Given the description of an element on the screen output the (x, y) to click on. 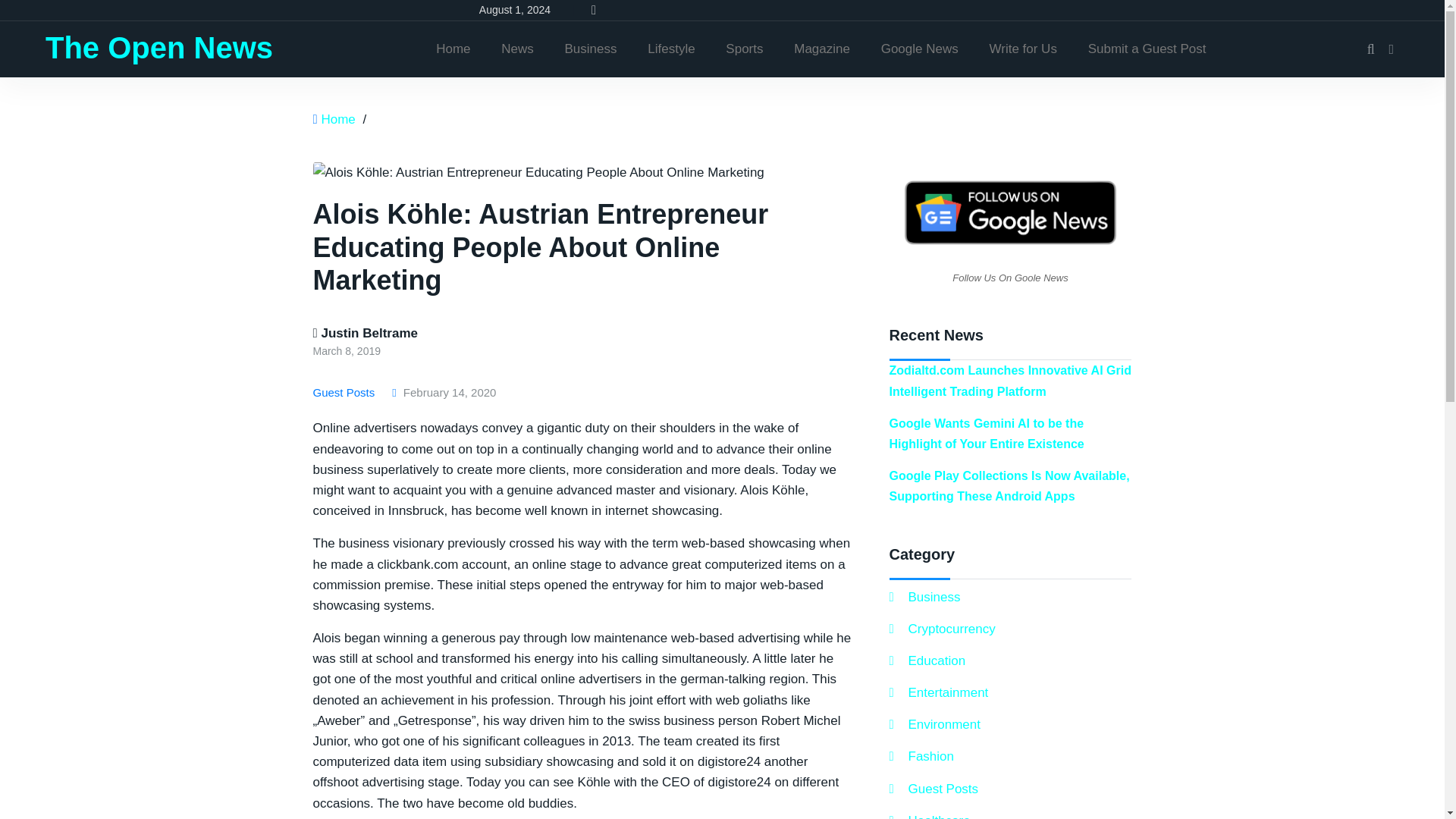
Submit a Guest Post (1147, 48)
Guest Posts (933, 788)
Business (923, 597)
Business (590, 48)
Healthcare (928, 814)
Justin Beltrame (364, 332)
Fashion (920, 756)
Sports (743, 48)
Home (452, 48)
Cryptocurrency (941, 629)
Google News (919, 48)
Magazine (821, 48)
Guest Posts (346, 392)
